Given the description of an element on the screen output the (x, y) to click on. 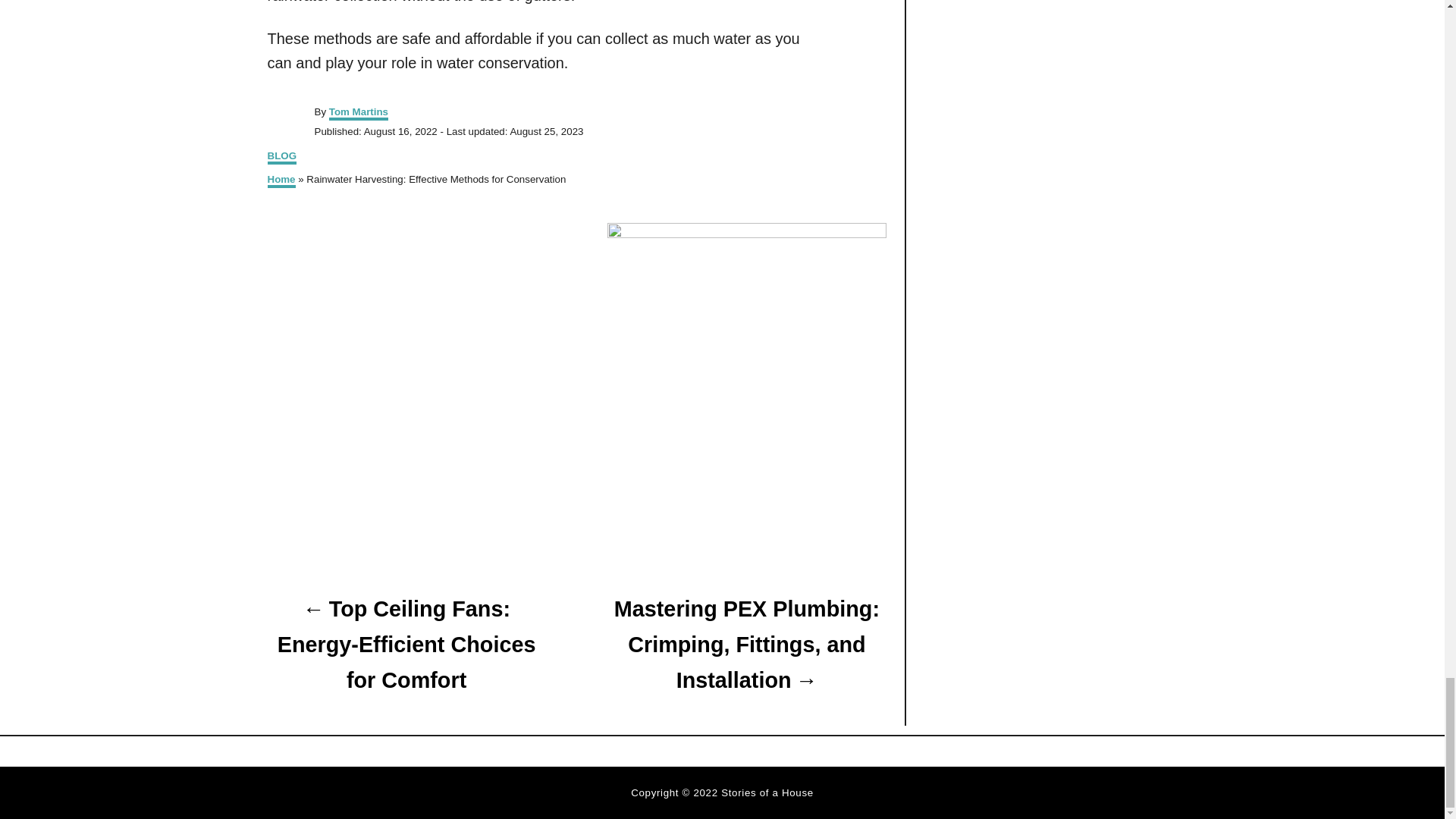
BLOG (281, 156)
Top Ceiling Fans: Energy-Efficient Choices for Comfort (405, 644)
Home (280, 180)
Tom Martins (358, 113)
